Given the description of an element on the screen output the (x, y) to click on. 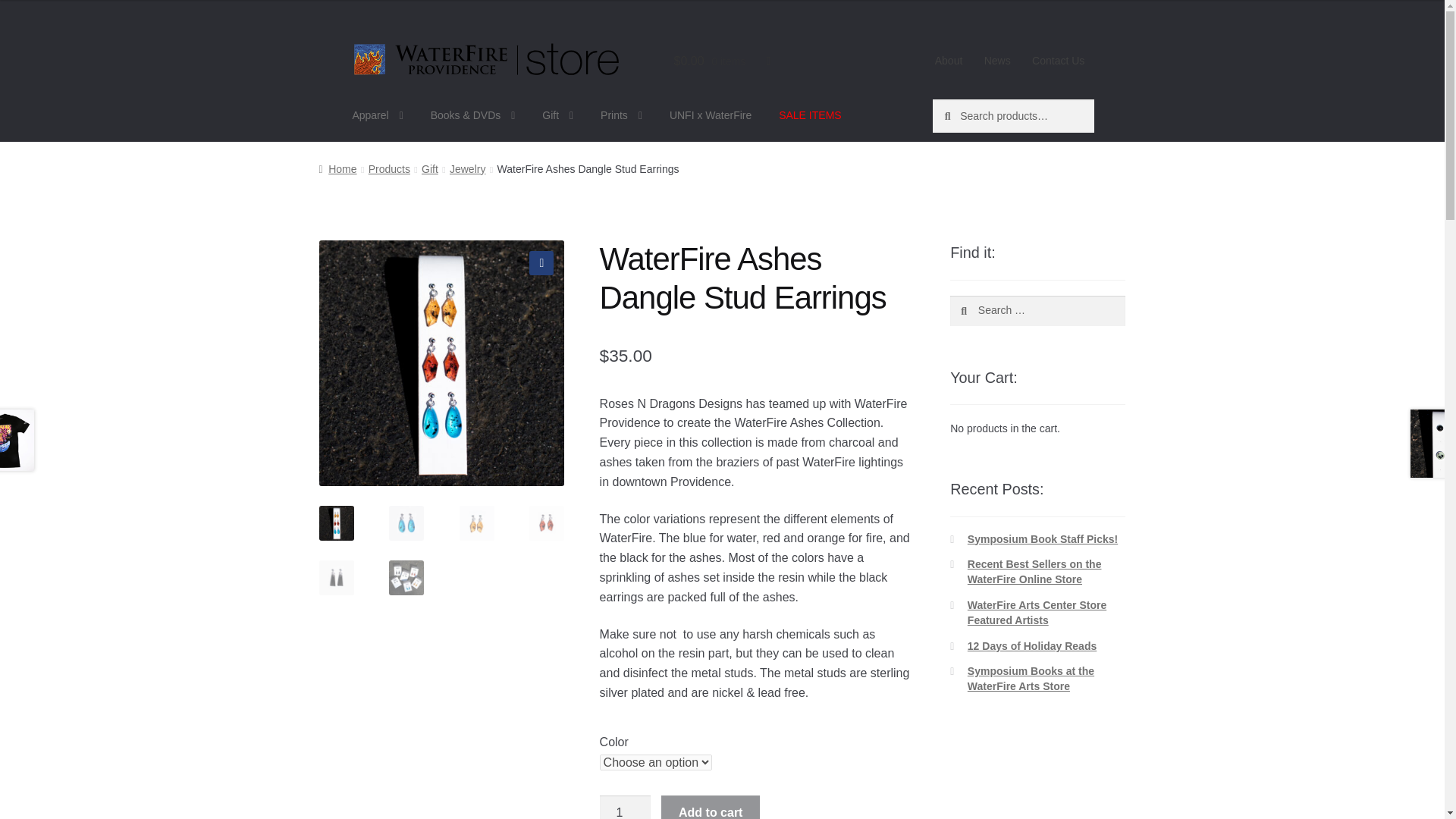
Apparel (376, 115)
UNFI x WaterFire (710, 115)
SALE ITEMS (810, 115)
View your shopping cart (722, 60)
Contact Us (1058, 60)
About (947, 60)
Prints (620, 115)
1 (624, 807)
Gift (557, 115)
News (997, 60)
